Given the description of an element on the screen output the (x, y) to click on. 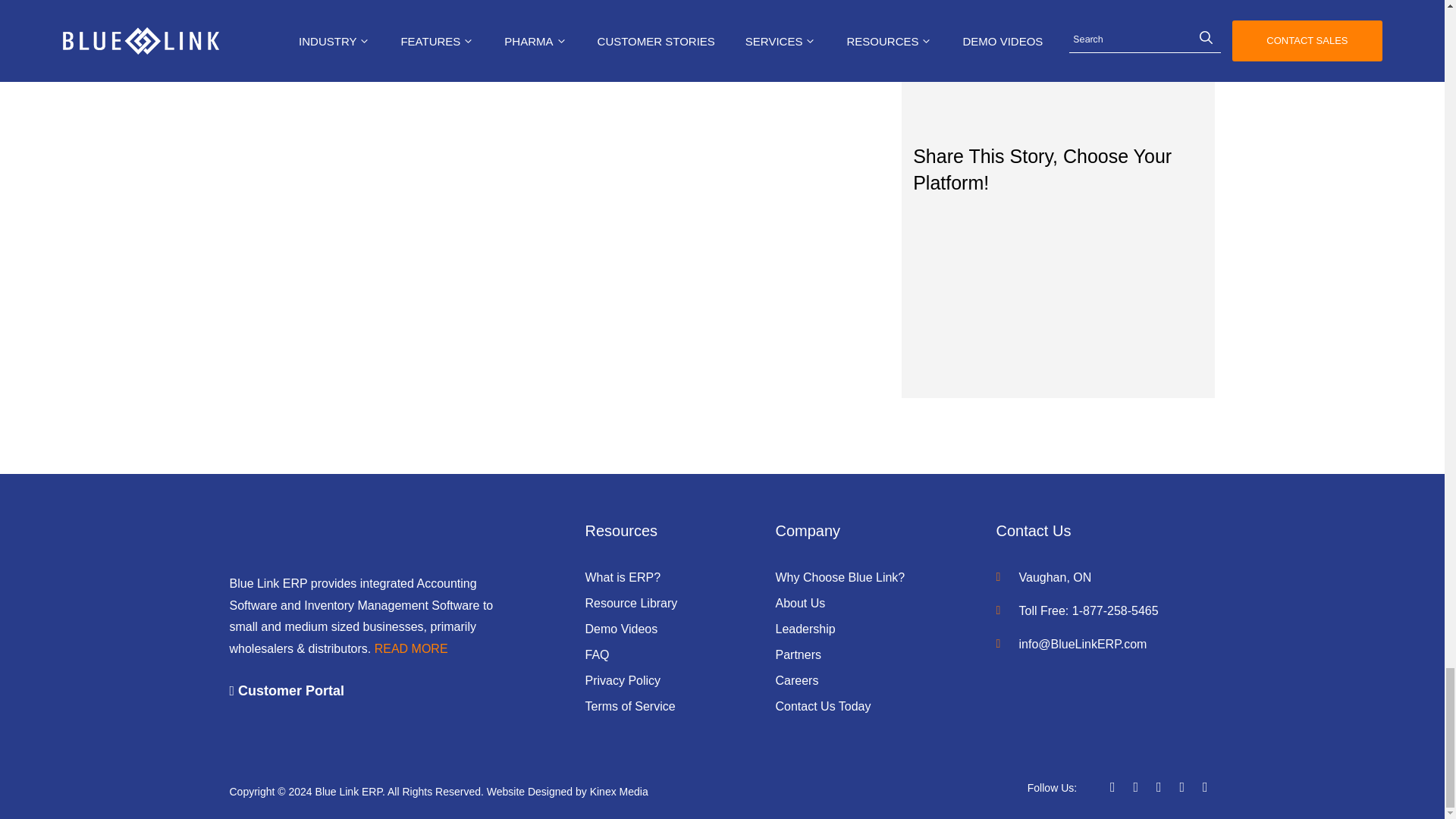
DMCA.com Protection Status (706, 791)
